Given the description of an element on the screen output the (x, y) to click on. 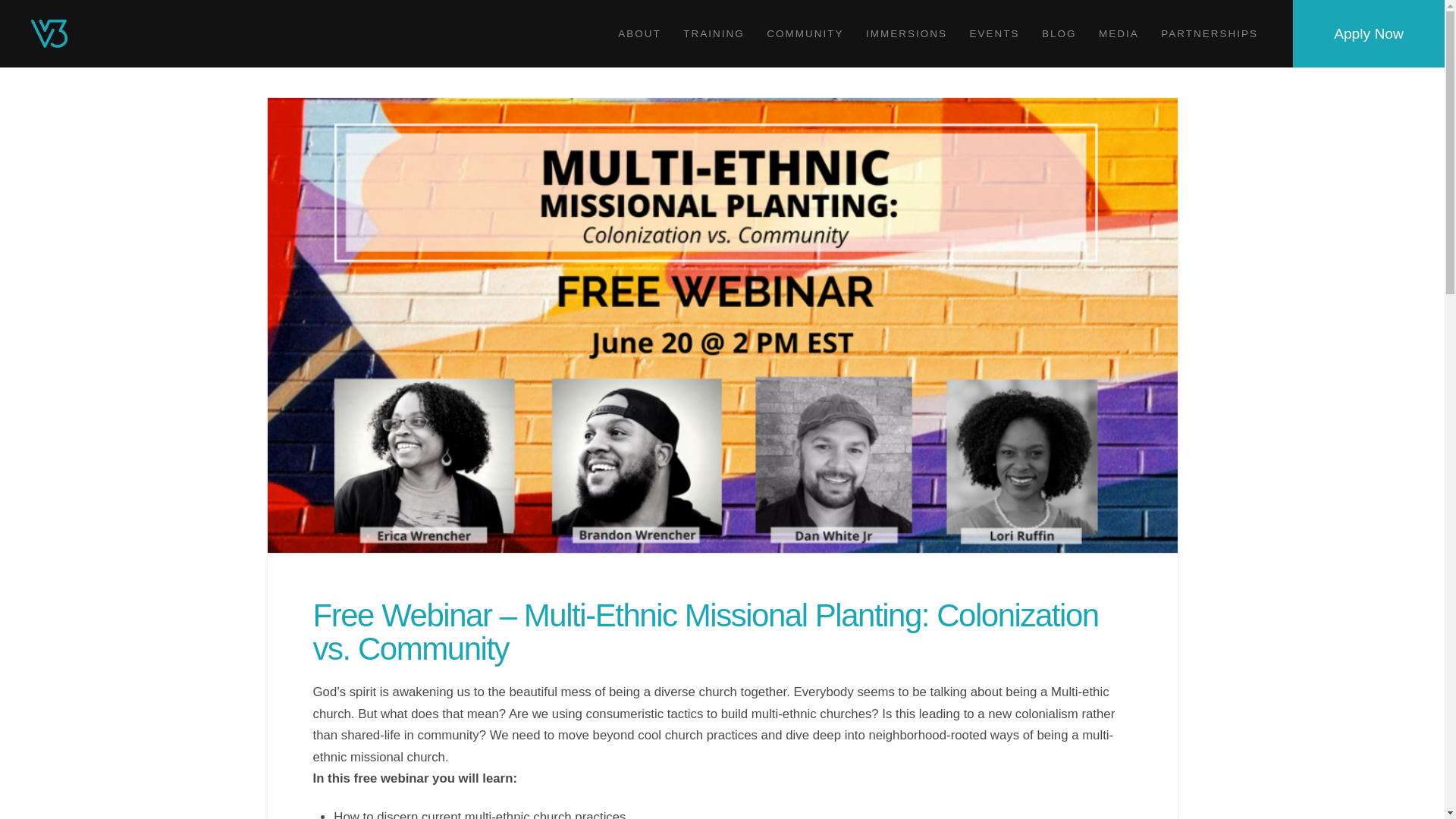
TRAINING (712, 33)
COMMUNITY (804, 33)
ABOUT (638, 33)
EVENTS (994, 33)
PARTNERSHIPS (1209, 33)
IMMERSIONS (905, 33)
MEDIA (1117, 33)
